Given the description of an element on the screen output the (x, y) to click on. 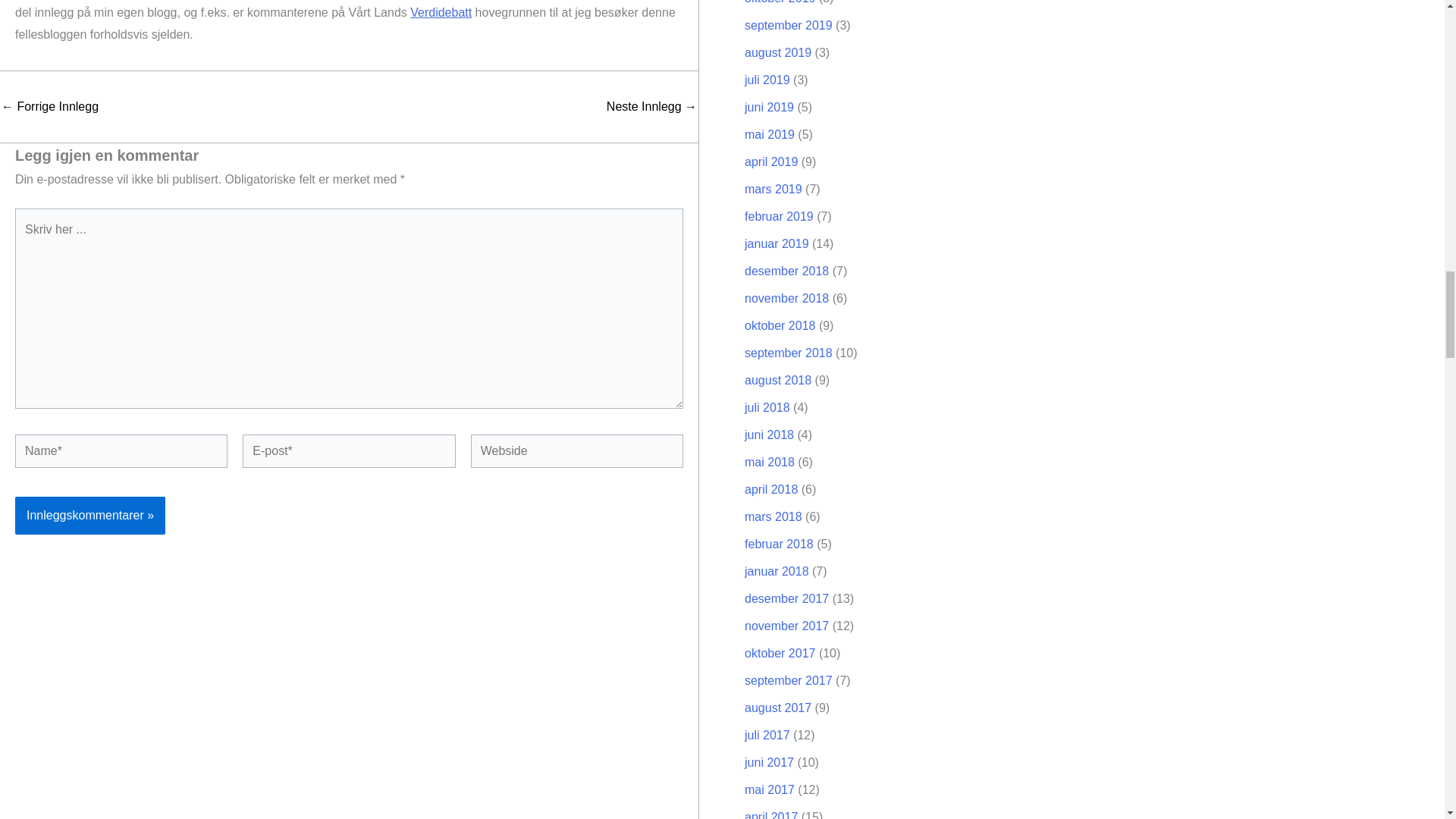
Verdidebatt (440, 11)
Det aller siste om Bredtvet kirke (652, 106)
Pave Benedikt i Libanon (50, 106)
